Given the description of an element on the screen output the (x, y) to click on. 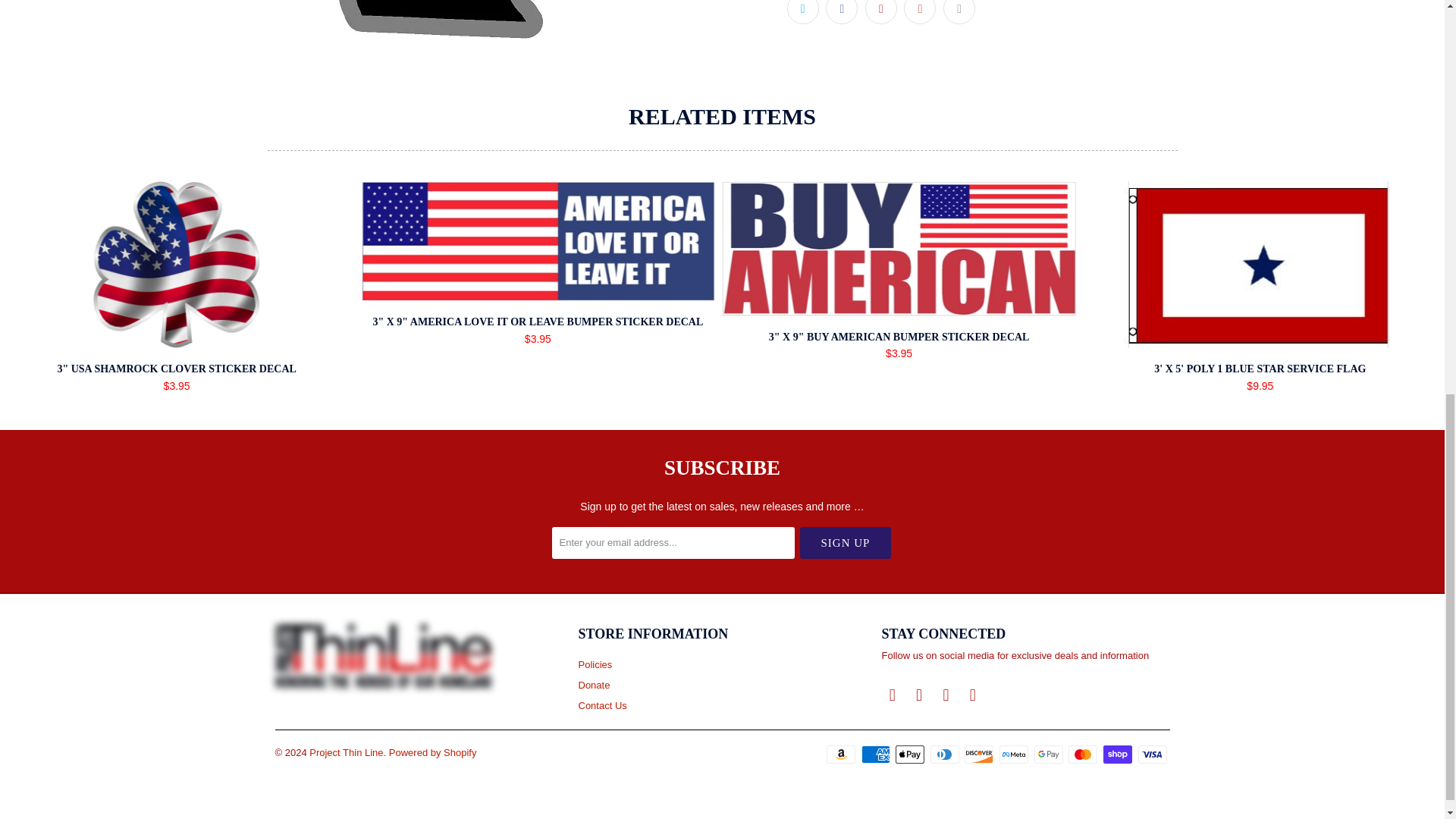
Share this on Facebook (841, 12)
Project Thin Line on Twitter (892, 695)
Share this on Twitter (802, 12)
Email this to a friend (959, 12)
Sign Up (845, 542)
Share this on Pinterest (880, 12)
